Given the description of an element on the screen output the (x, y) to click on. 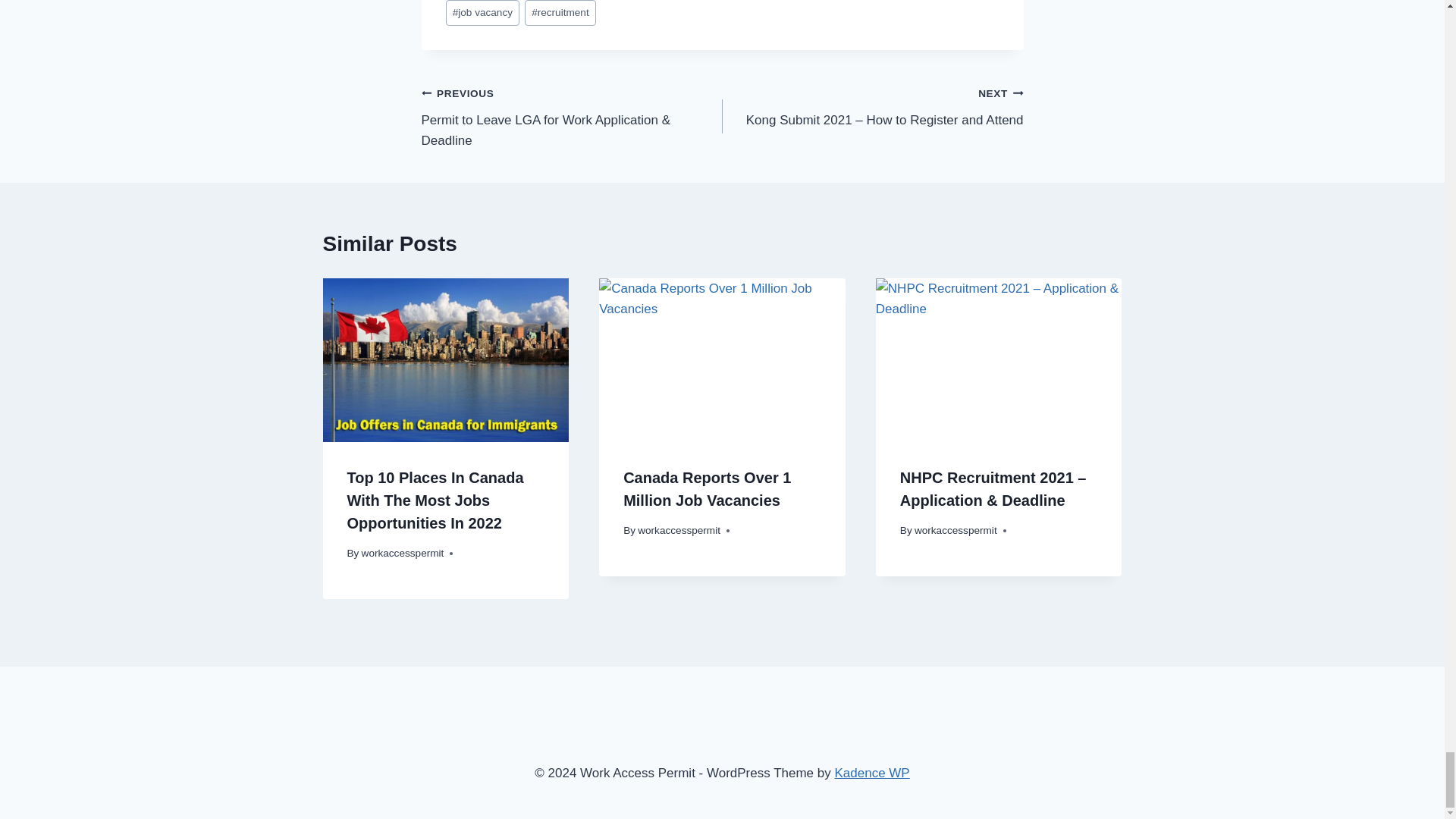
Canada Reports Over 1 Million Job Vacancies (706, 488)
workaccesspermit (678, 530)
Kadence WP (871, 772)
job vacancy (482, 13)
recruitment (559, 13)
workaccesspermit (955, 530)
workaccesspermit (402, 552)
